Given the description of an element on the screen output the (x, y) to click on. 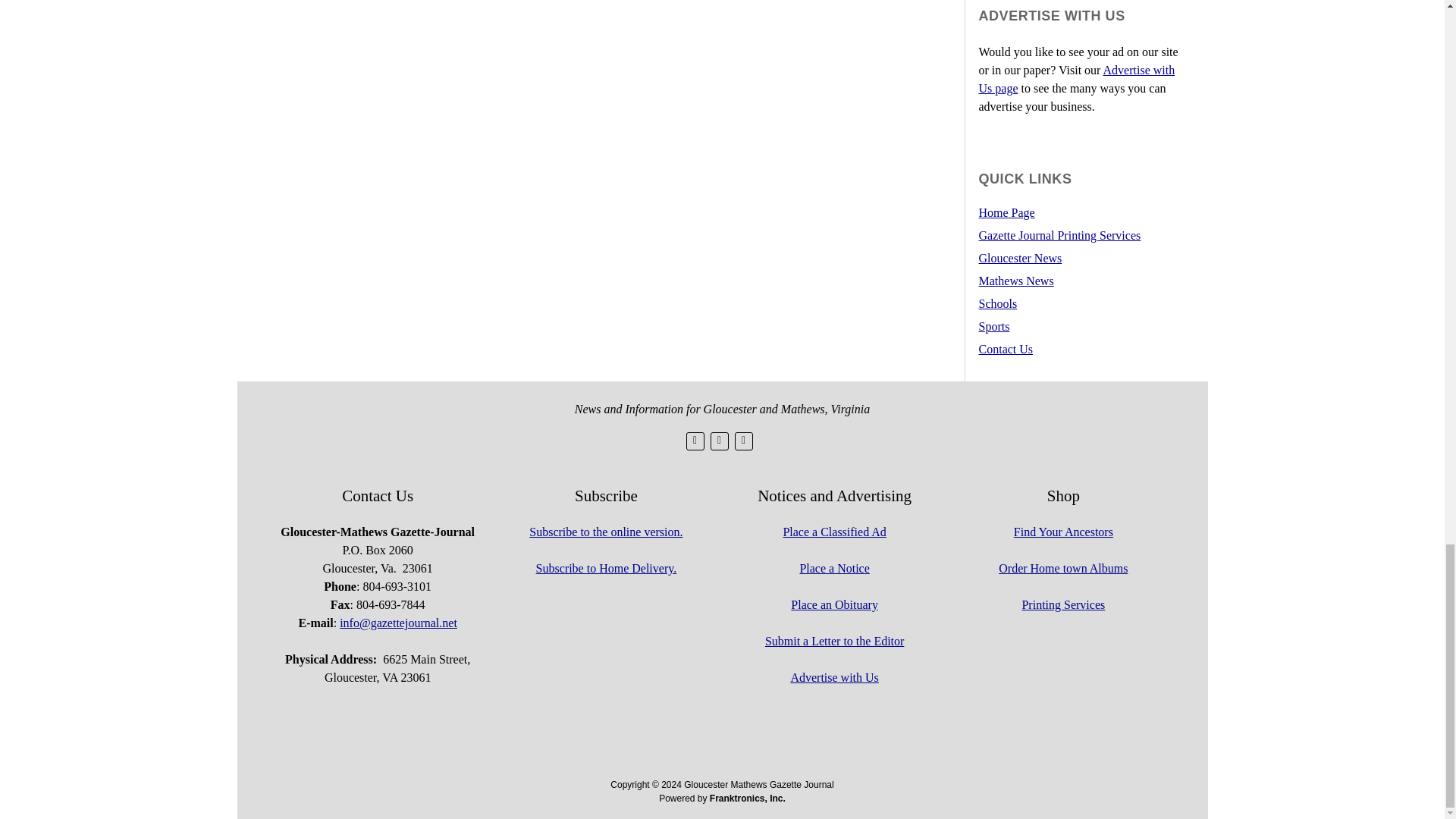
twitter (694, 441)
instagram (742, 441)
facebook (719, 441)
